Given the description of an element on the screen output the (x, y) to click on. 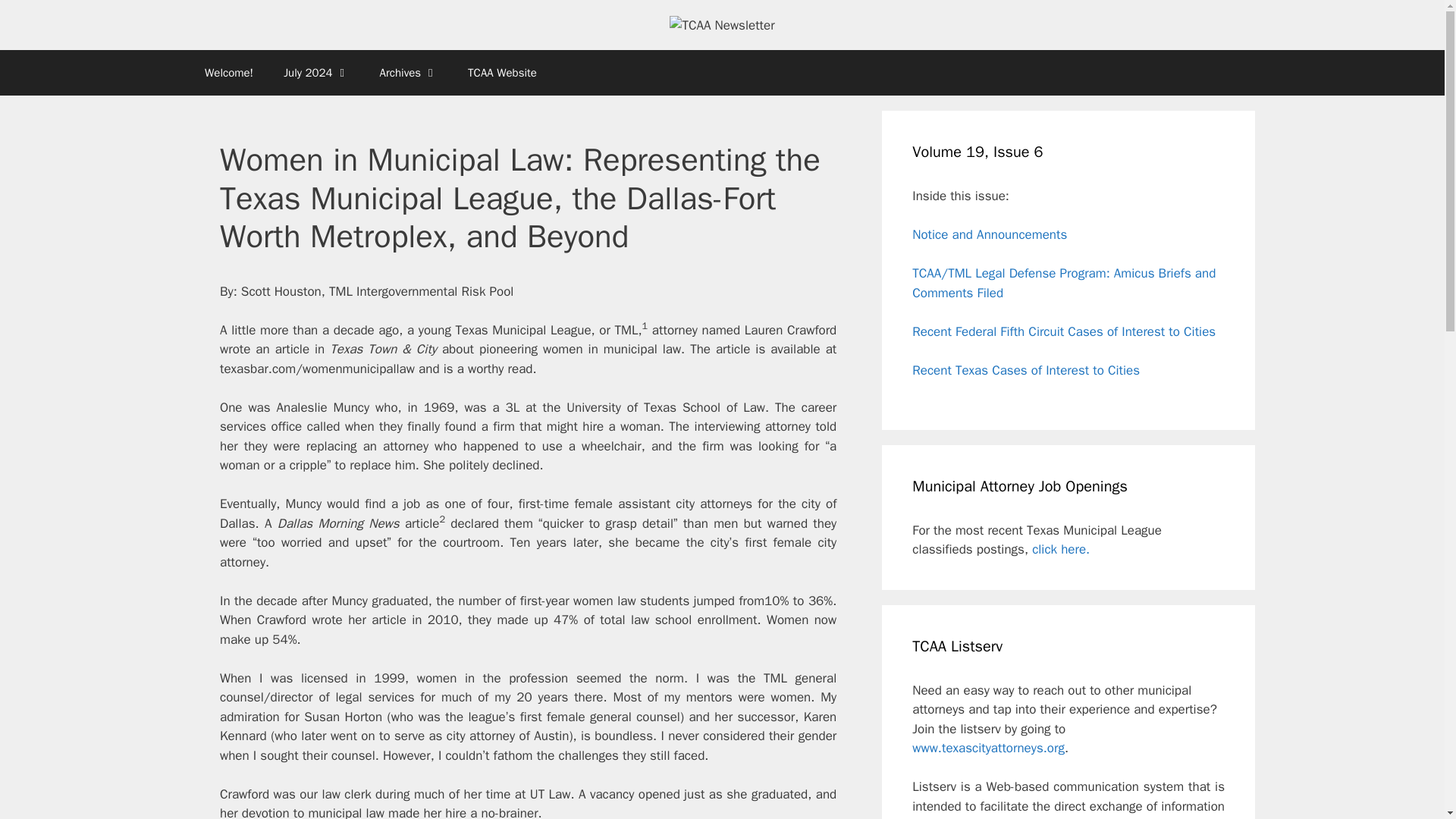
TCAA Website (501, 72)
click here. (1060, 549)
Recent Federal Fifth Circuit Cases of Interest to Cities (1063, 331)
www.texascityattorneys.org (988, 747)
Recent Texas Cases of Interest to Cities (1026, 370)
July 2024 (315, 72)
Welcome! (228, 72)
Archives (408, 72)
Notice and Announcements (989, 234)
